Given the description of an element on the screen output the (x, y) to click on. 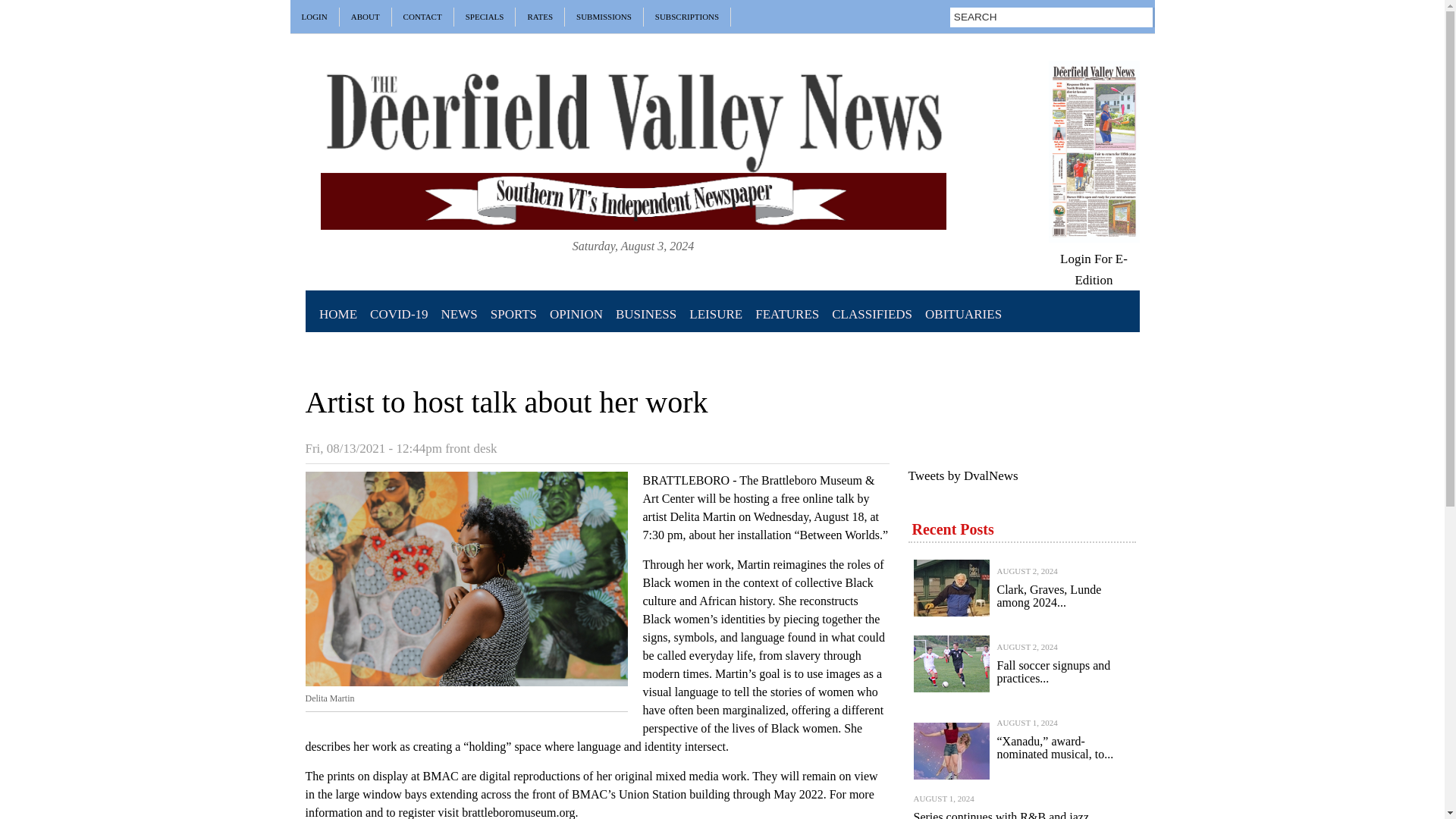
SPECIALS (485, 16)
OPINION (576, 314)
SUBSCRIPTIONS (686, 16)
ABOUT (365, 16)
Enter the terms you wish to search for. (1077, 17)
Leisure (715, 314)
Login For E-Edition (1092, 268)
News (458, 314)
HOME (337, 314)
COVID-19 (399, 314)
LEISURE (715, 314)
FEATURES (787, 314)
NEWS (458, 314)
CLASSIFIEDS (871, 314)
